Given the description of an element on the screen output the (x, y) to click on. 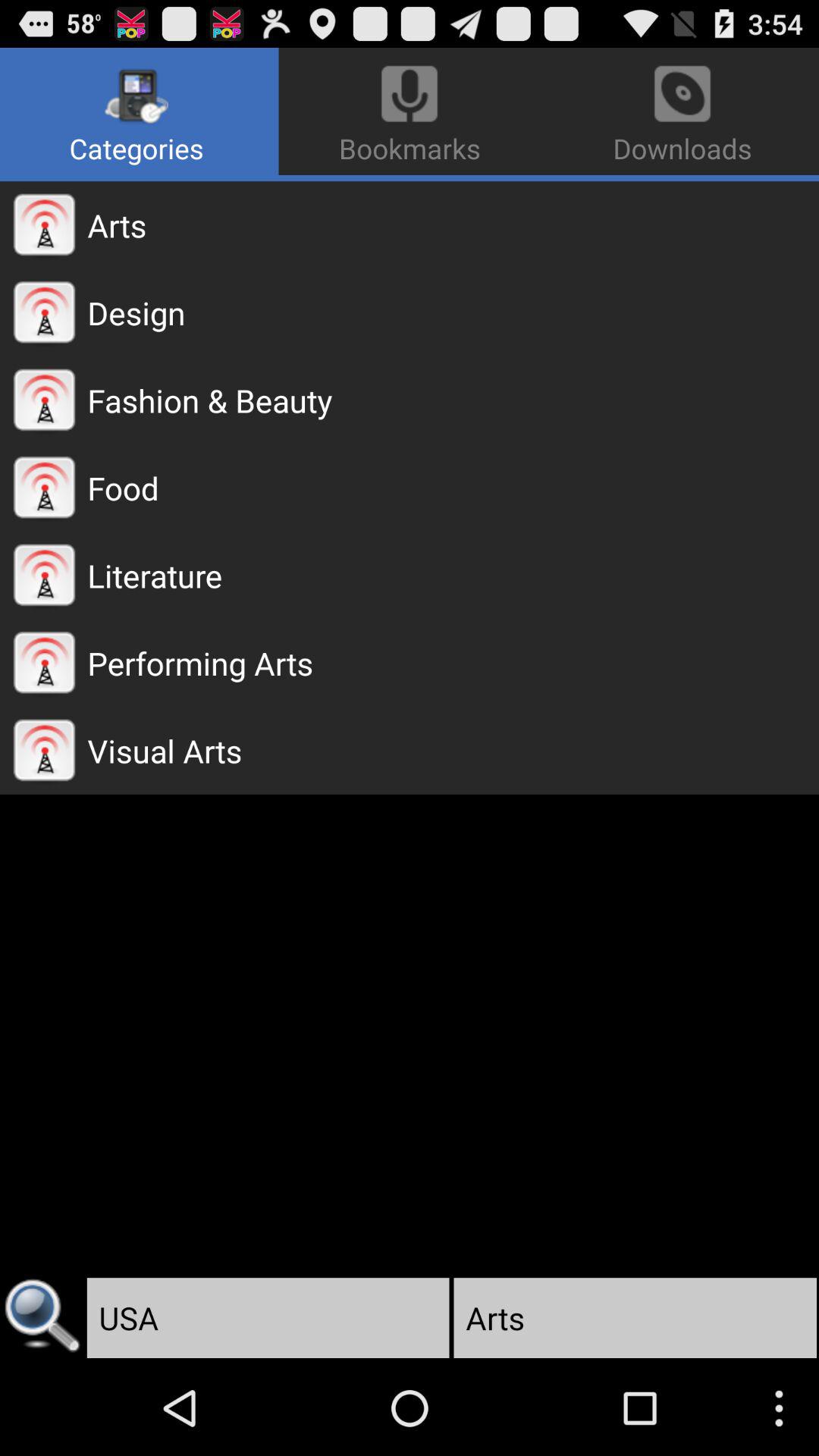
swipe to the literature icon (453, 575)
